Given the description of an element on the screen output the (x, y) to click on. 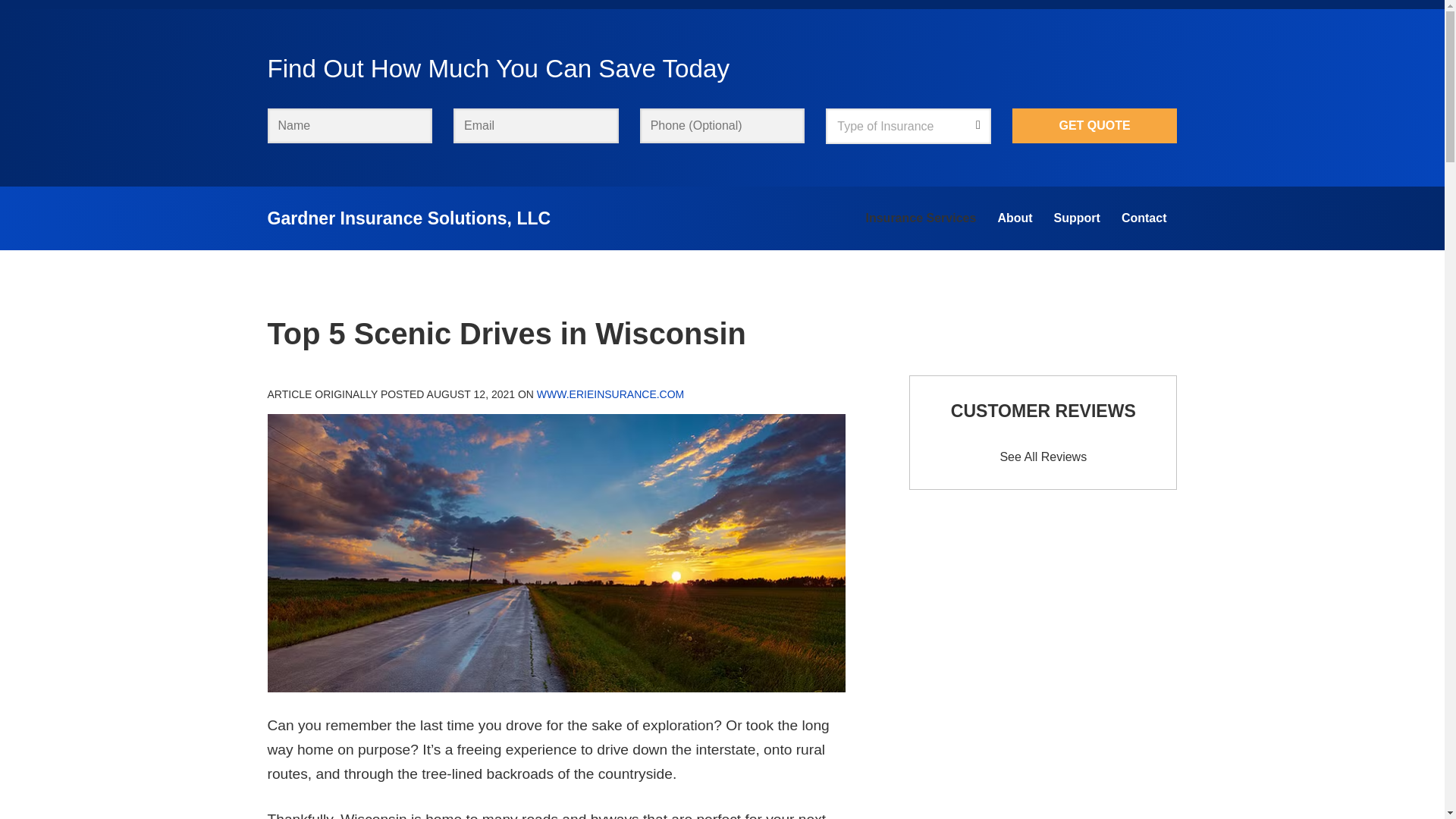
About (1014, 218)
Insurance Services (921, 218)
Get Quote (1094, 125)
Support (1076, 218)
Gardner Insurance Solutions, LLC (408, 218)
Get Quote (1094, 125)
